Given the description of an element on the screen output the (x, y) to click on. 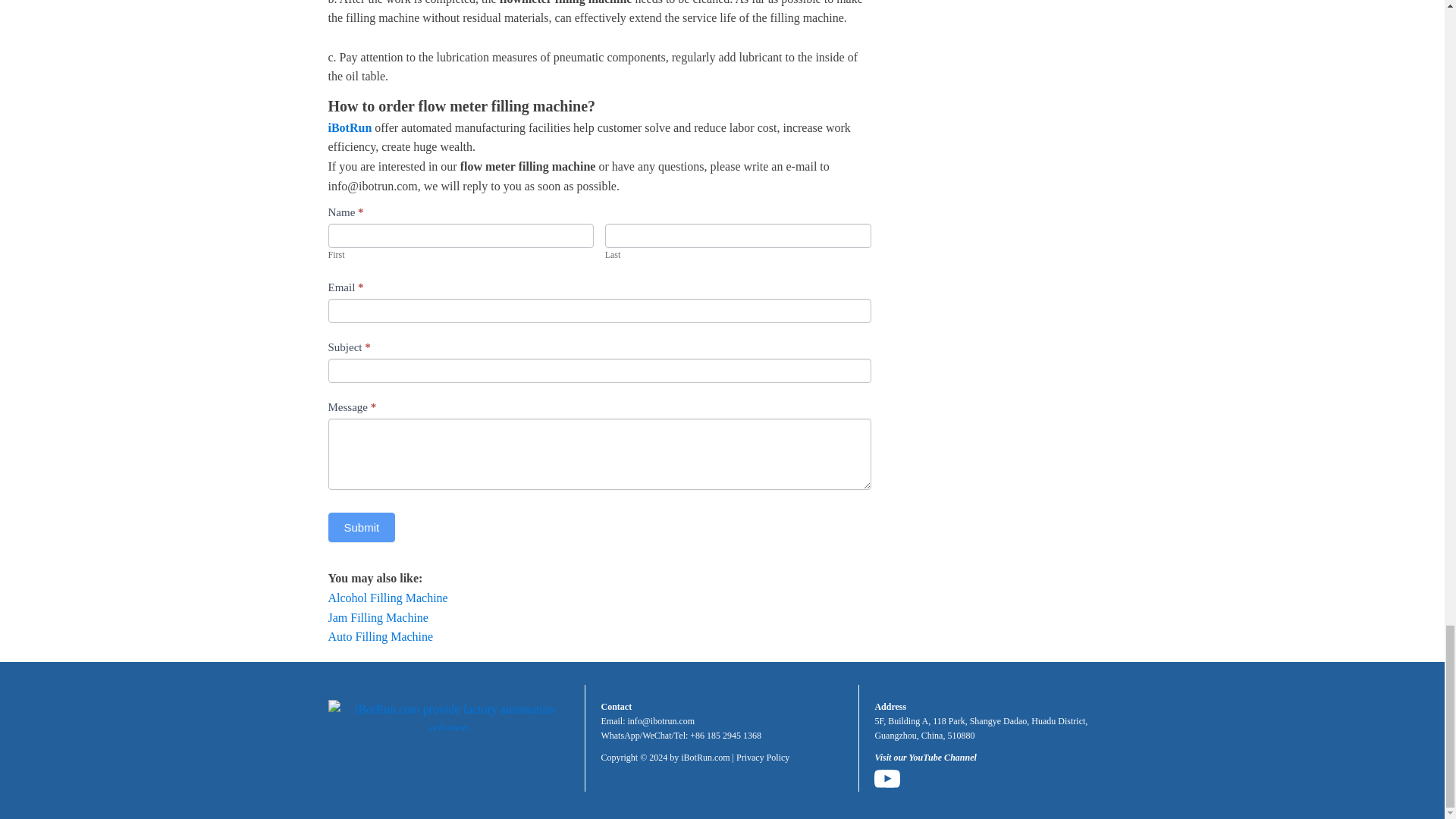
iBotRun (349, 127)
